Given the description of an element on the screen output the (x, y) to click on. 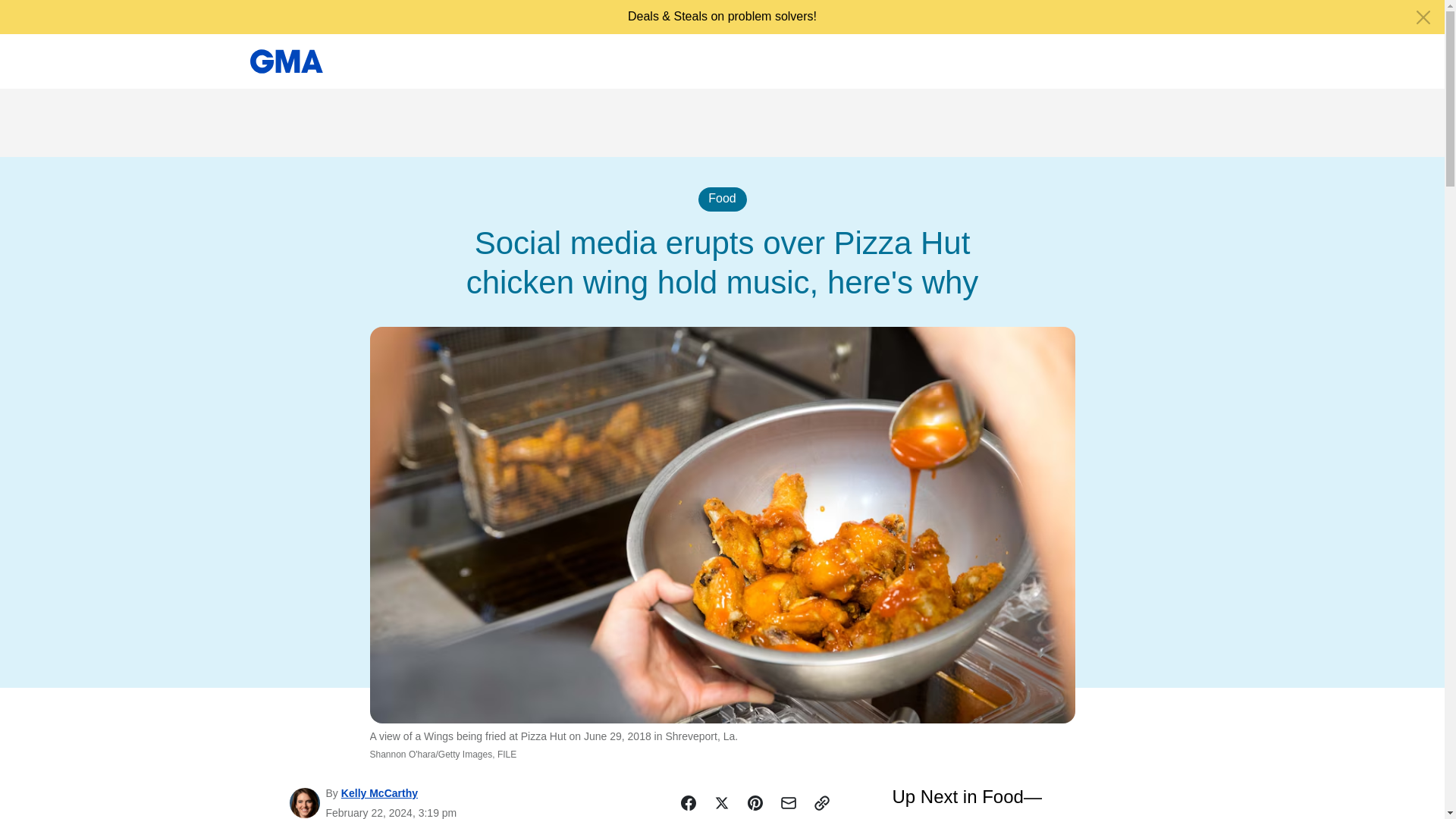
Food (721, 199)
Kelly McCarthy (378, 793)
